Given the description of an element on the screen output the (x, y) to click on. 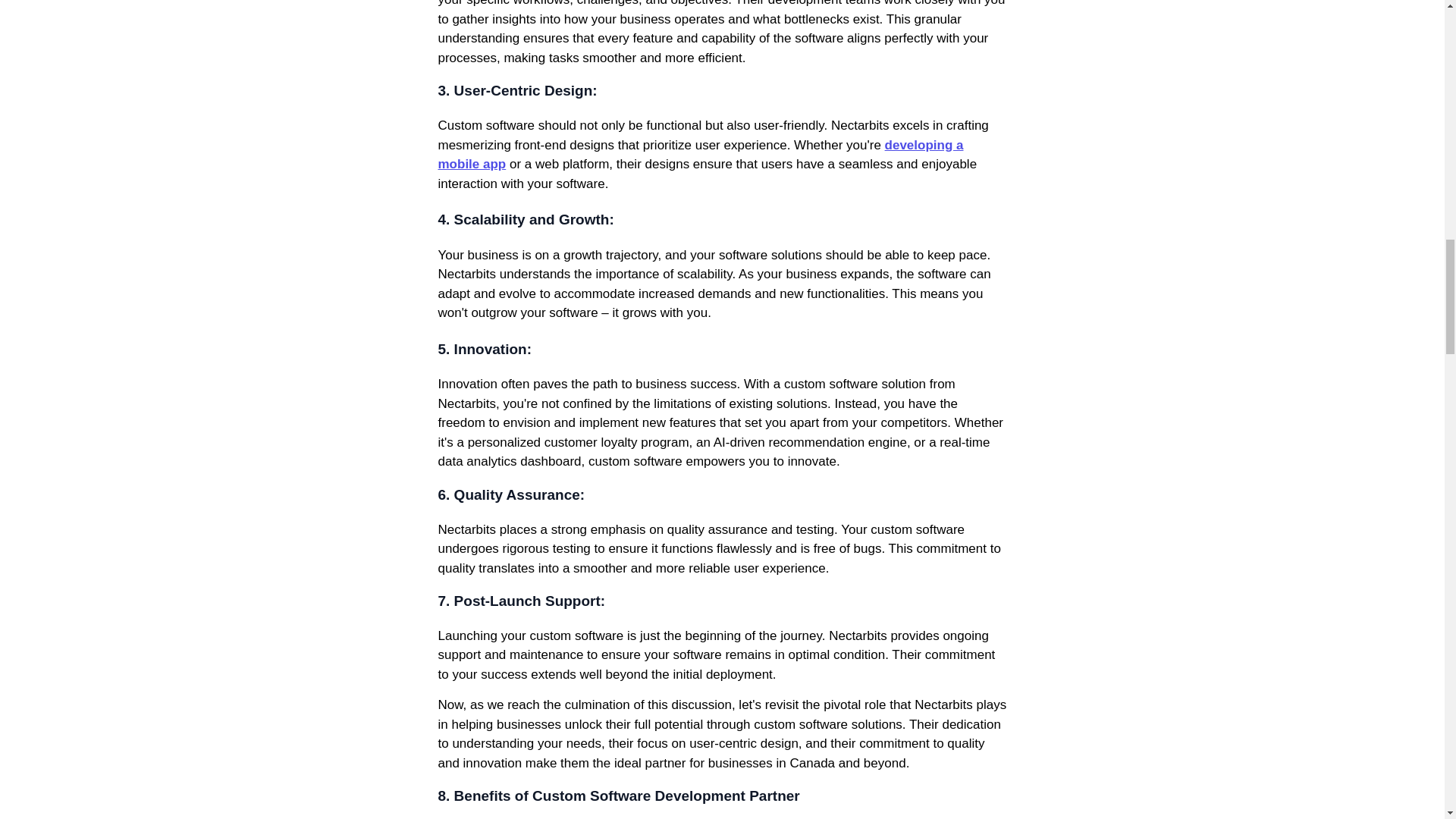
developing a mobile app (700, 154)
